Given the description of an element on the screen output the (x, y) to click on. 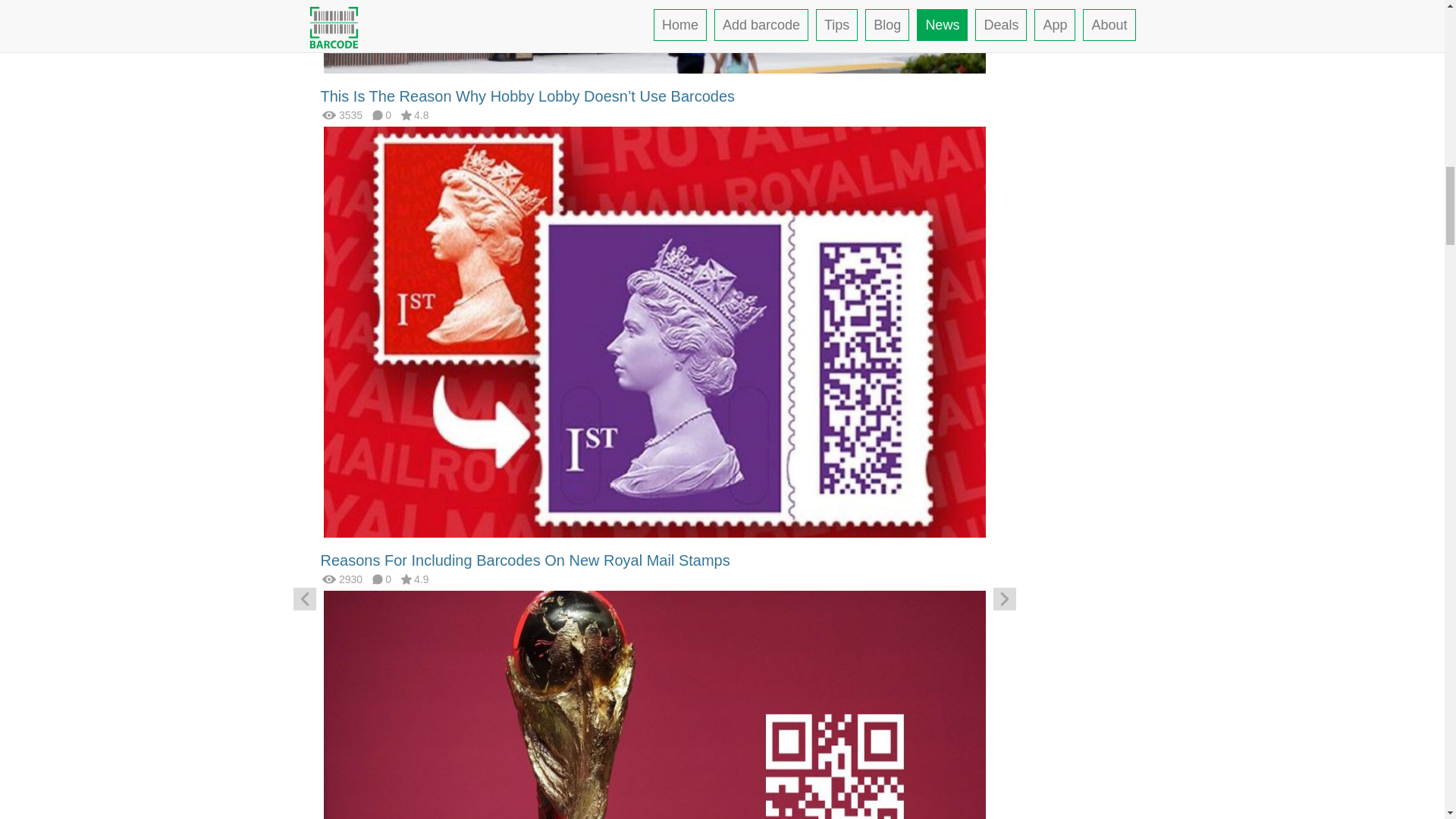
QR Codes Appeared in FIFA World Cup in Qatar: Is It Good? (654, 795)
Reasons For Including Barcodes On New Royal Mail Stamps (524, 560)
Reasons For Including Barcodes On New Royal Mail Stamps (654, 331)
Reasons For Including Barcodes On New Royal Mail Stamps (524, 560)
